Given the description of an element on the screen output the (x, y) to click on. 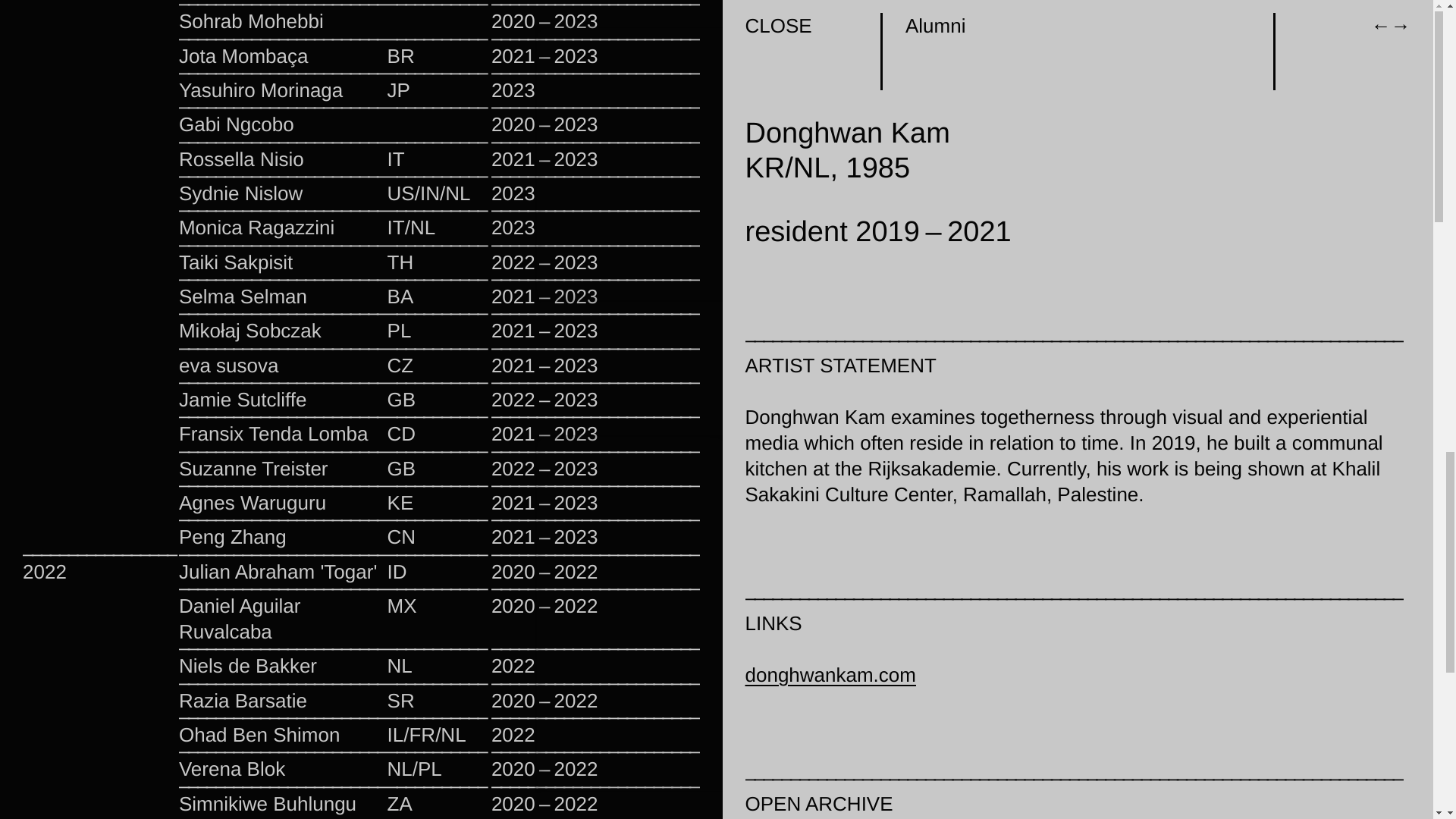
Open Studios (785, 50)
Work in public space (1255, 21)
Dongwhan's kitchen (899, 21)
2021 (846, 50)
Image (885, 50)
Donghwan Kam (955, 50)
